Given the description of an element on the screen output the (x, y) to click on. 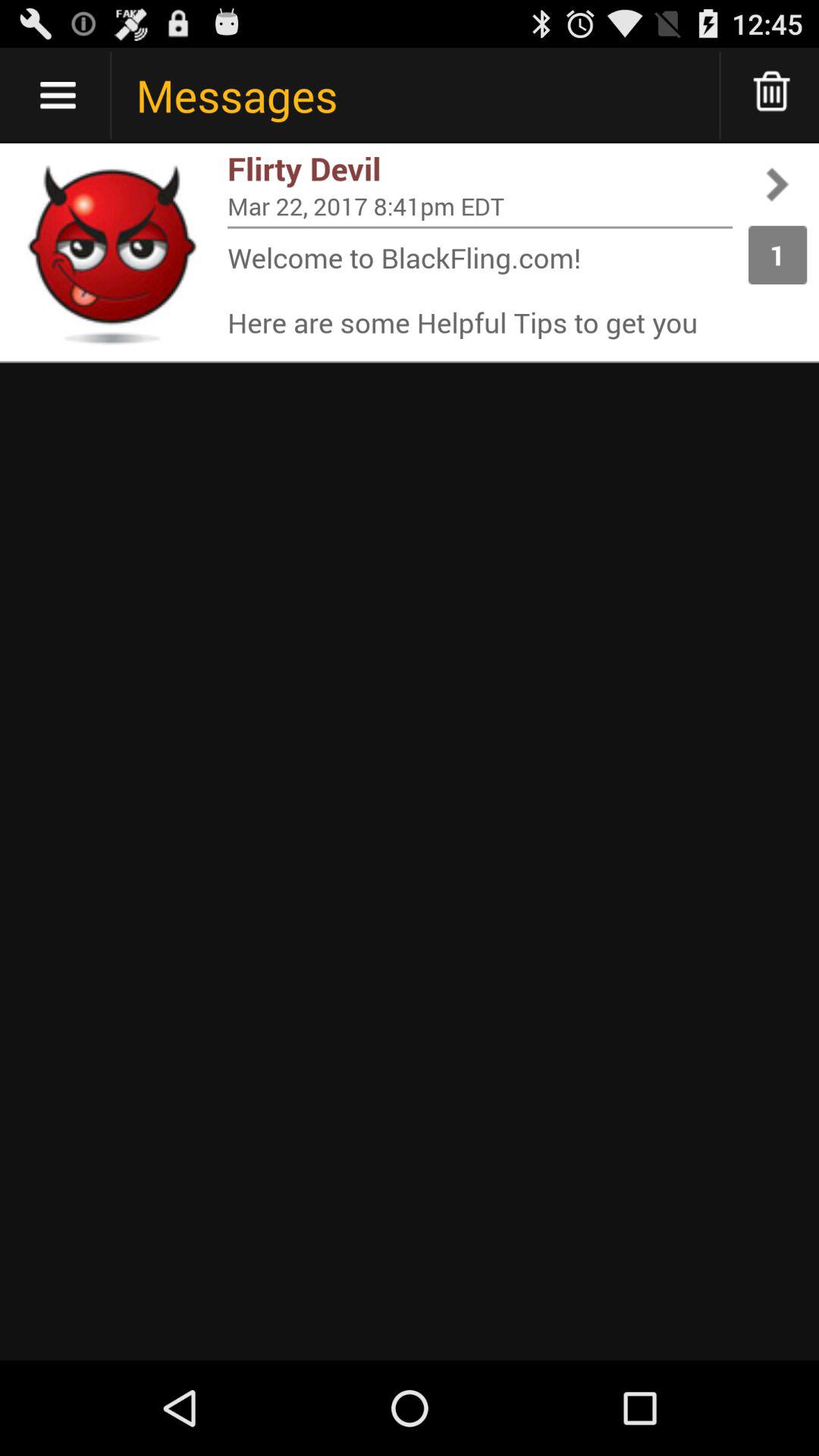
click the welcome to blackfling item (479, 289)
